Given the description of an element on the screen output the (x, y) to click on. 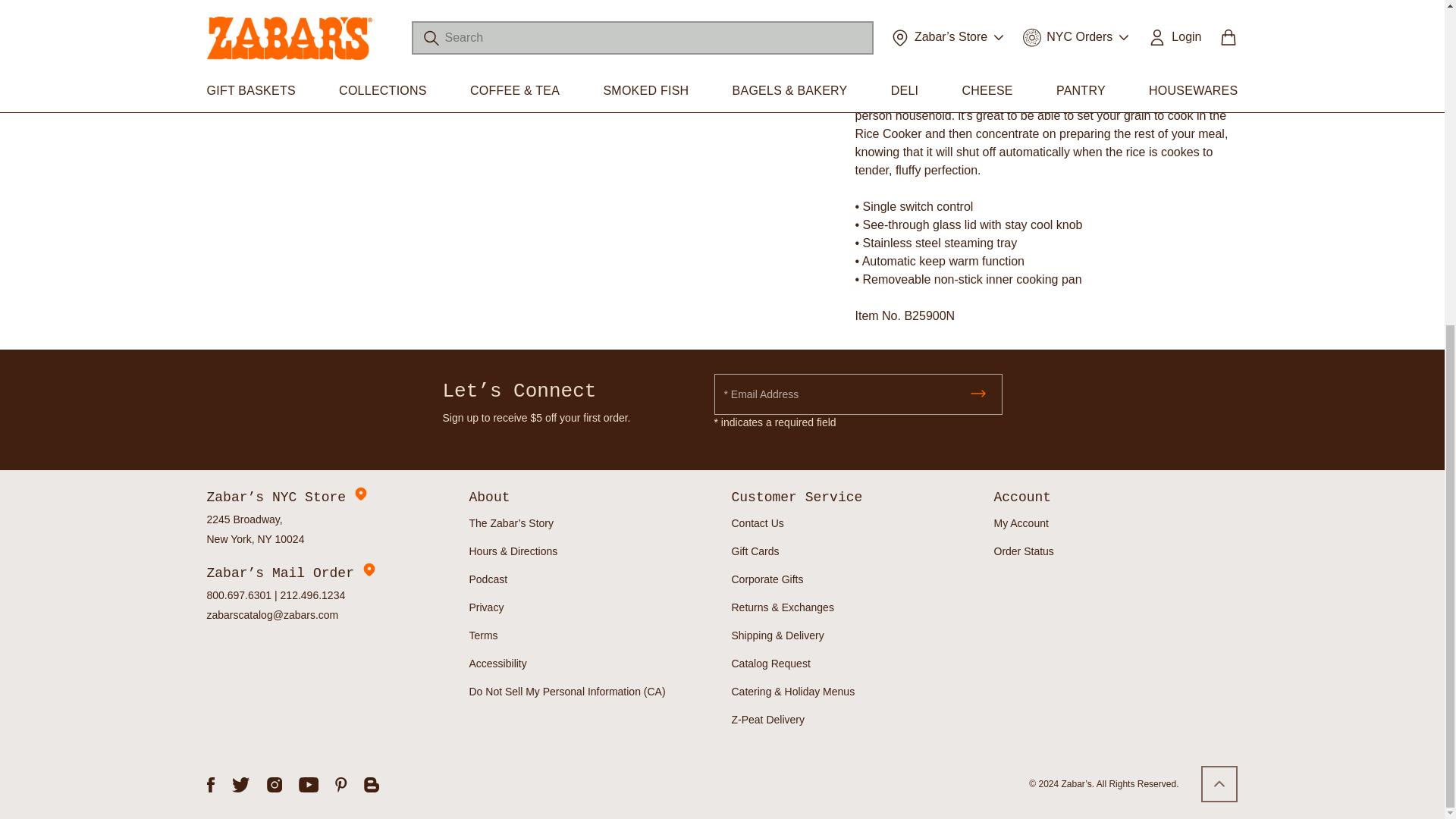
Go to Privacy (485, 606)
Go to Podcast (487, 579)
Go to Contact Us (756, 523)
Go to Accessibility (496, 663)
Go to About Us (510, 523)
Go to Terms (482, 635)
Go to Do Not Sell My Personal Information (566, 691)
